Given the description of an element on the screen output the (x, y) to click on. 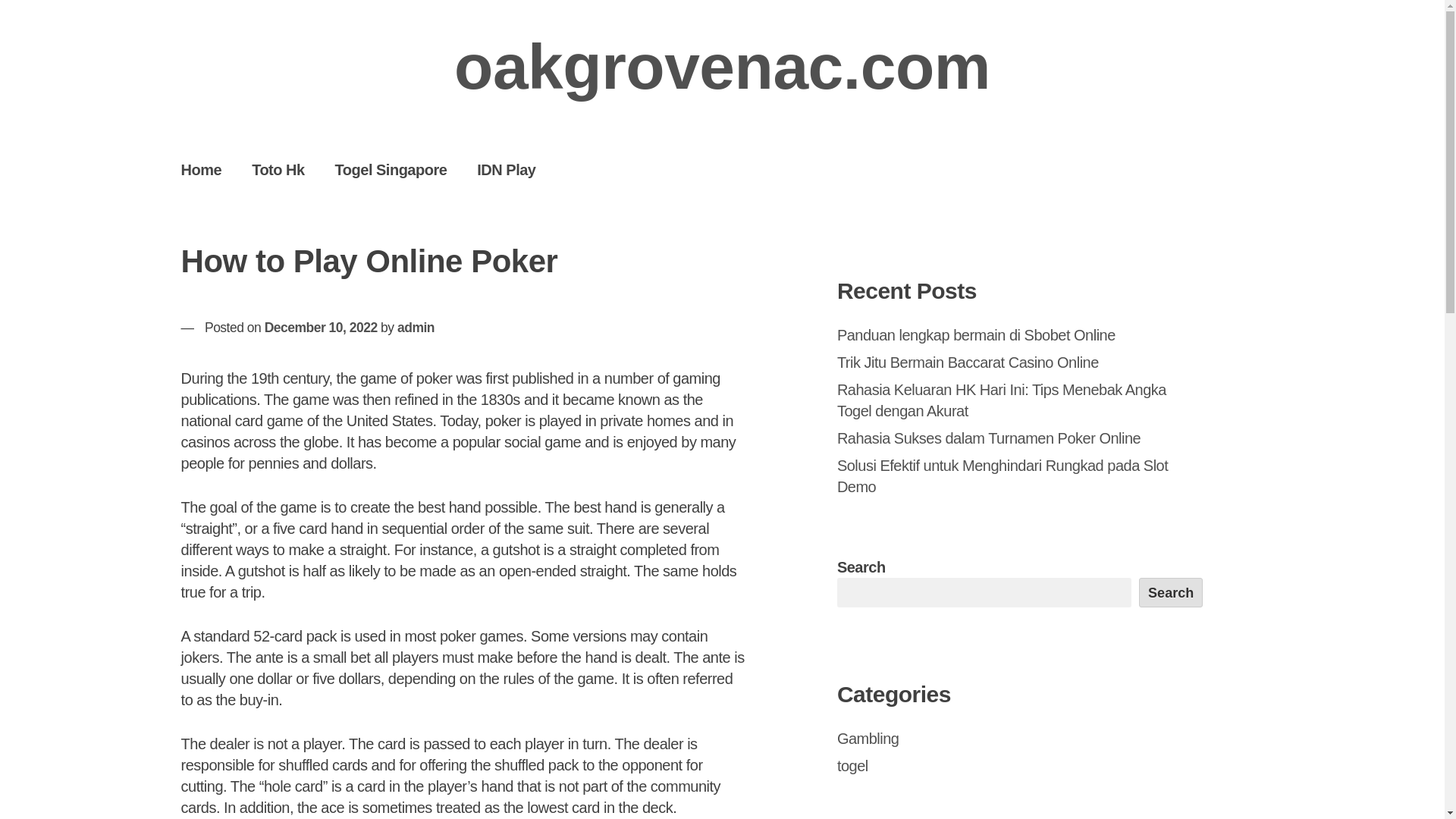
admin (415, 327)
togel (852, 765)
Panduan lengkap bermain di Sbobet Online (976, 334)
Solusi Efektif untuk Menghindari Rungkad pada Slot Demo (1002, 476)
December 10, 2022 (320, 327)
Togel Singapore (391, 169)
IDN Play (505, 169)
oakgrovenac.com (722, 66)
Toto Hk (276, 169)
Gambling (868, 738)
Trik Jitu Bermain Baccarat Casino Online (968, 362)
Rahasia Sukses dalam Turnamen Poker Online (988, 437)
Search (1171, 592)
Home (201, 169)
